Given the description of an element on the screen output the (x, y) to click on. 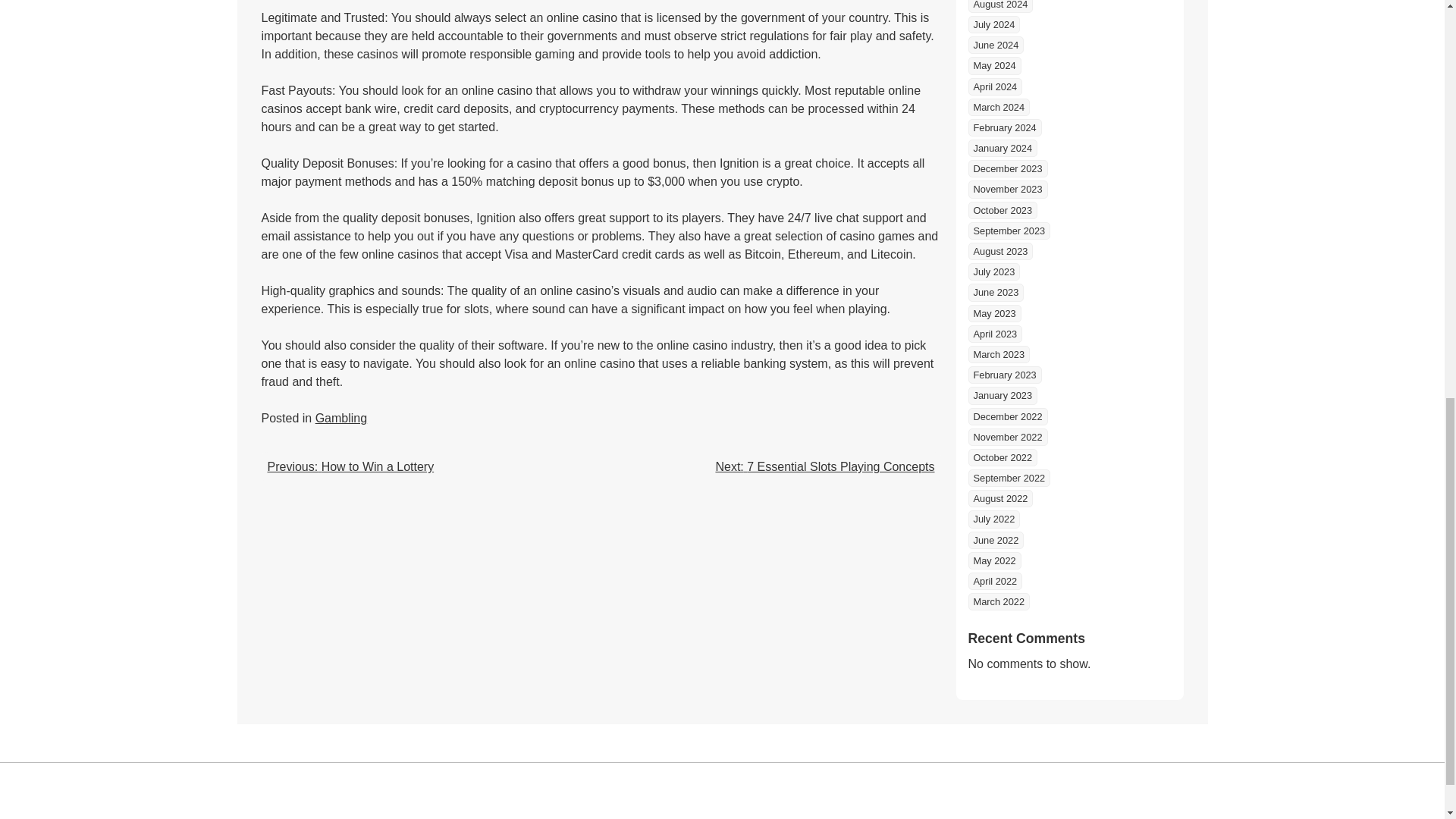
December 2022 (1007, 416)
January 2024 (1002, 148)
October 2023 (1002, 210)
April 2024 (995, 86)
February 2023 (1004, 375)
February 2024 (1004, 127)
August 2024 (1000, 6)
June 2024 (995, 45)
March 2024 (998, 107)
Gambling (340, 418)
